Given the description of an element on the screen output the (x, y) to click on. 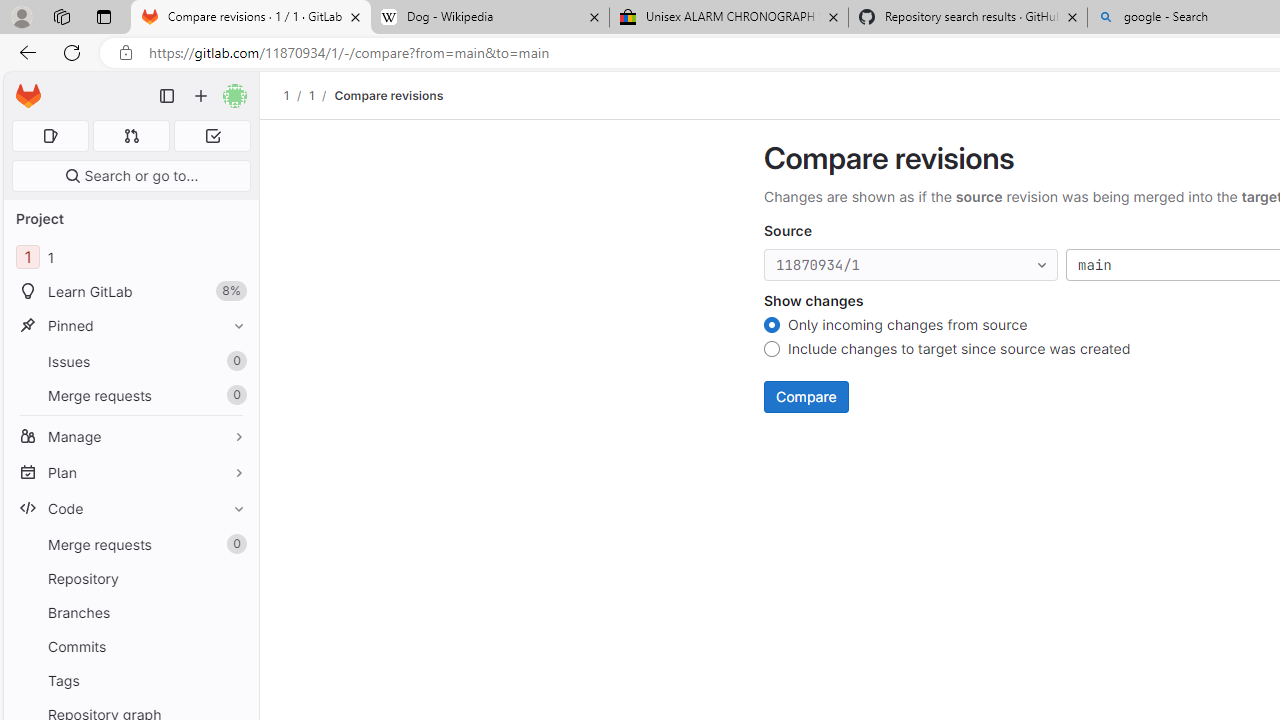
Pin Commits (234, 646)
Pin Branches (234, 611)
Compare (806, 396)
Pin Repository (234, 578)
Pinned (130, 325)
Pin Tags (234, 680)
Branches (130, 612)
Include changes to target since source was created (771, 351)
Code (130, 507)
1 1 (130, 257)
